Given the description of an element on the screen output the (x, y) to click on. 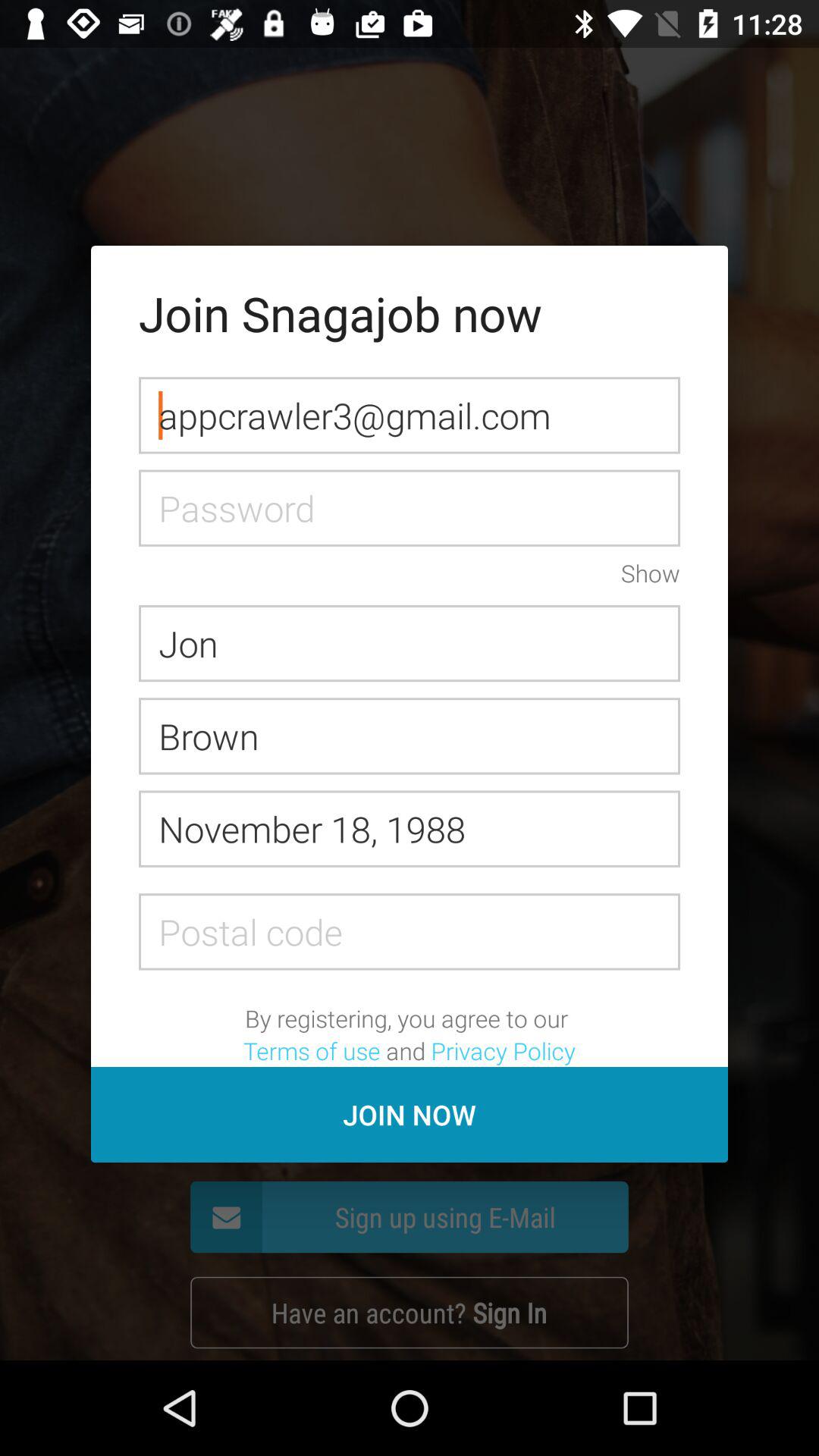
enter password (409, 507)
